Given the description of an element on the screen output the (x, y) to click on. 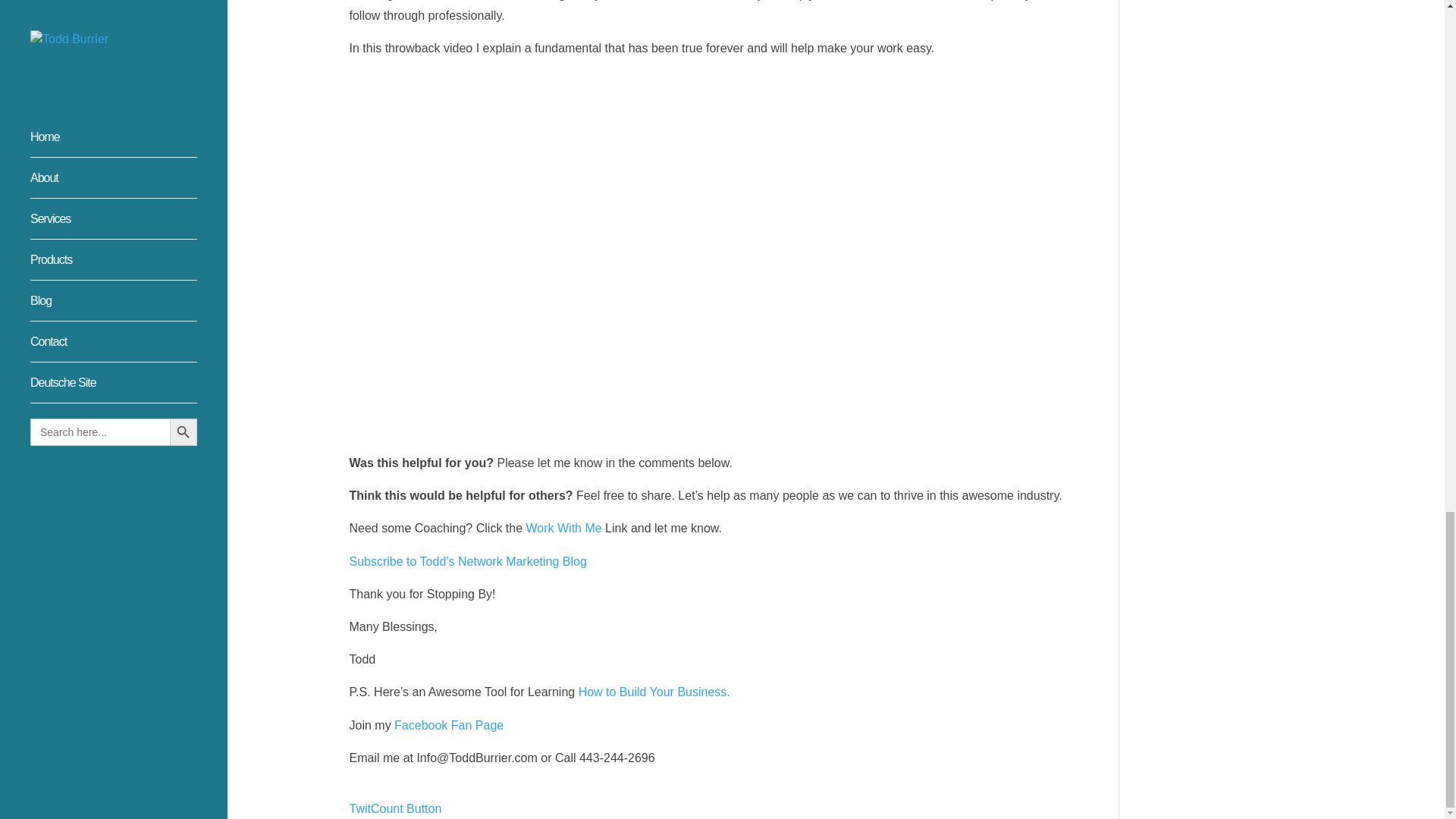
How to Build Your Business. (654, 691)
Work With Me (563, 527)
TwitCount Button (395, 808)
Facebook Fan Page (448, 725)
